Given the description of an element on the screen output the (x, y) to click on. 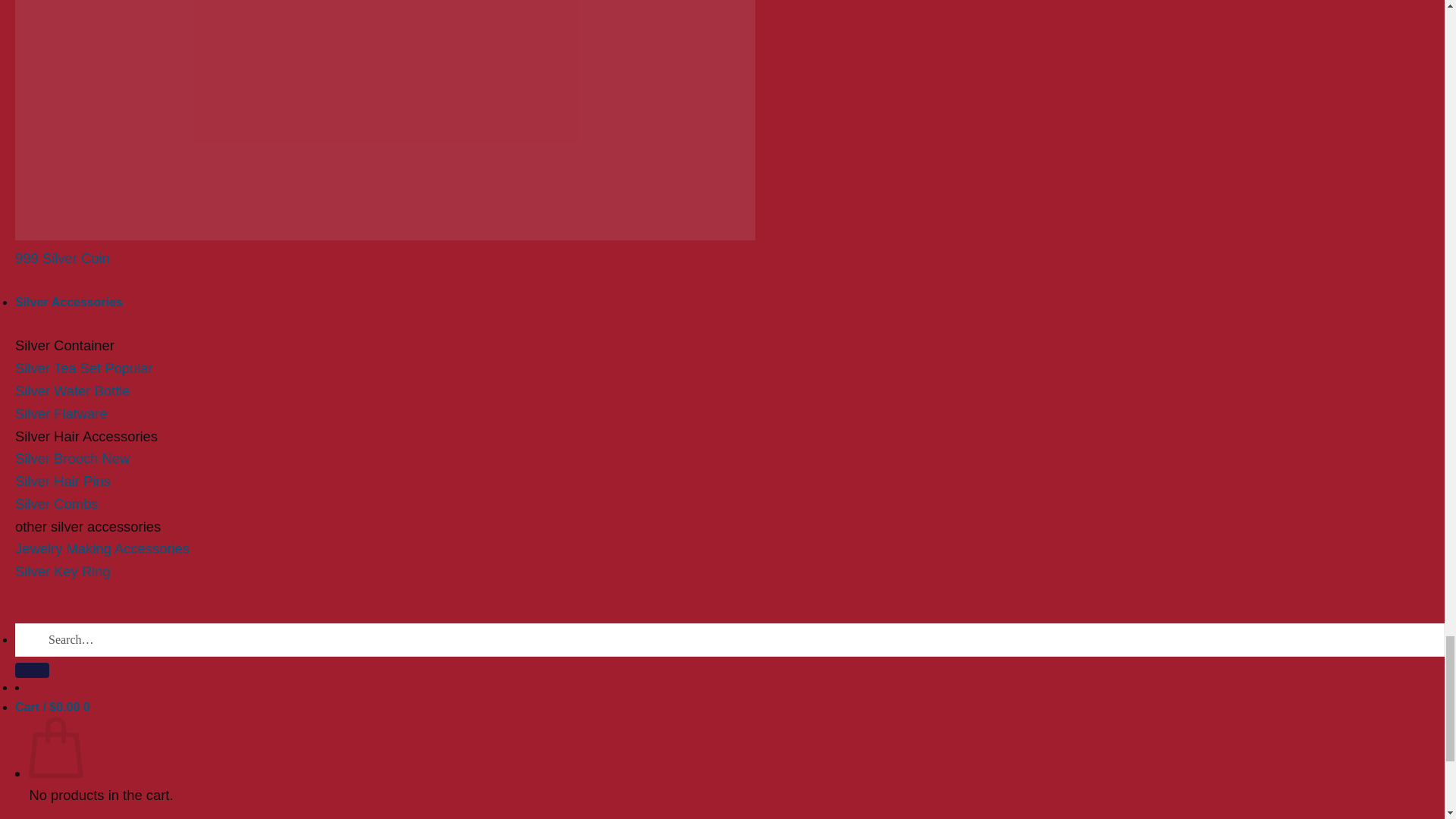
Silver Flatware (60, 413)
999 Silver Coin (62, 258)
Cart (52, 707)
Silver Accessories (68, 301)
Silver Tea Set (83, 367)
Silver Water Bottle (72, 390)
